Given the description of an element on the screen output the (x, y) to click on. 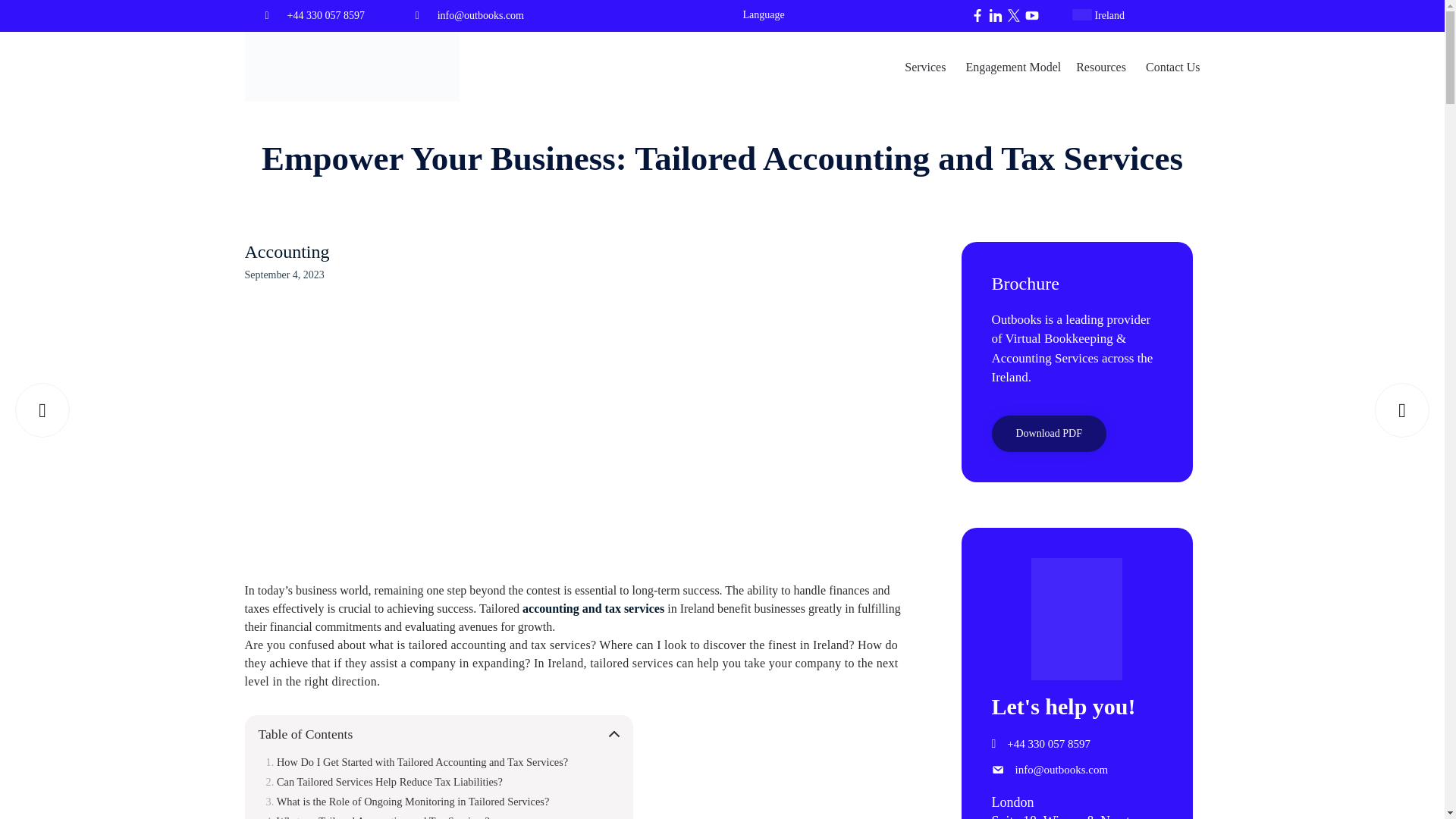
Resources (1103, 66)
What are Tailored Accounting and Tax Services? (376, 816)
Engagement Model (1013, 66)
accounting and tax services (592, 608)
Can Tailored Services Help Reduce Tax Liabilities? (383, 782)
Contact Us (1173, 66)
What is the Role of Ongoing Monitoring in Tailored Services? (406, 802)
What is the Role of Ongoing Monitoring in Tailored Services? (406, 802)
Accounting (286, 251)
What are Tailored Accounting and Tax Services? (376, 816)
Can Tailored Services Help Reduce Tax Liabilities? (383, 782)
